Given the description of an element on the screen output the (x, y) to click on. 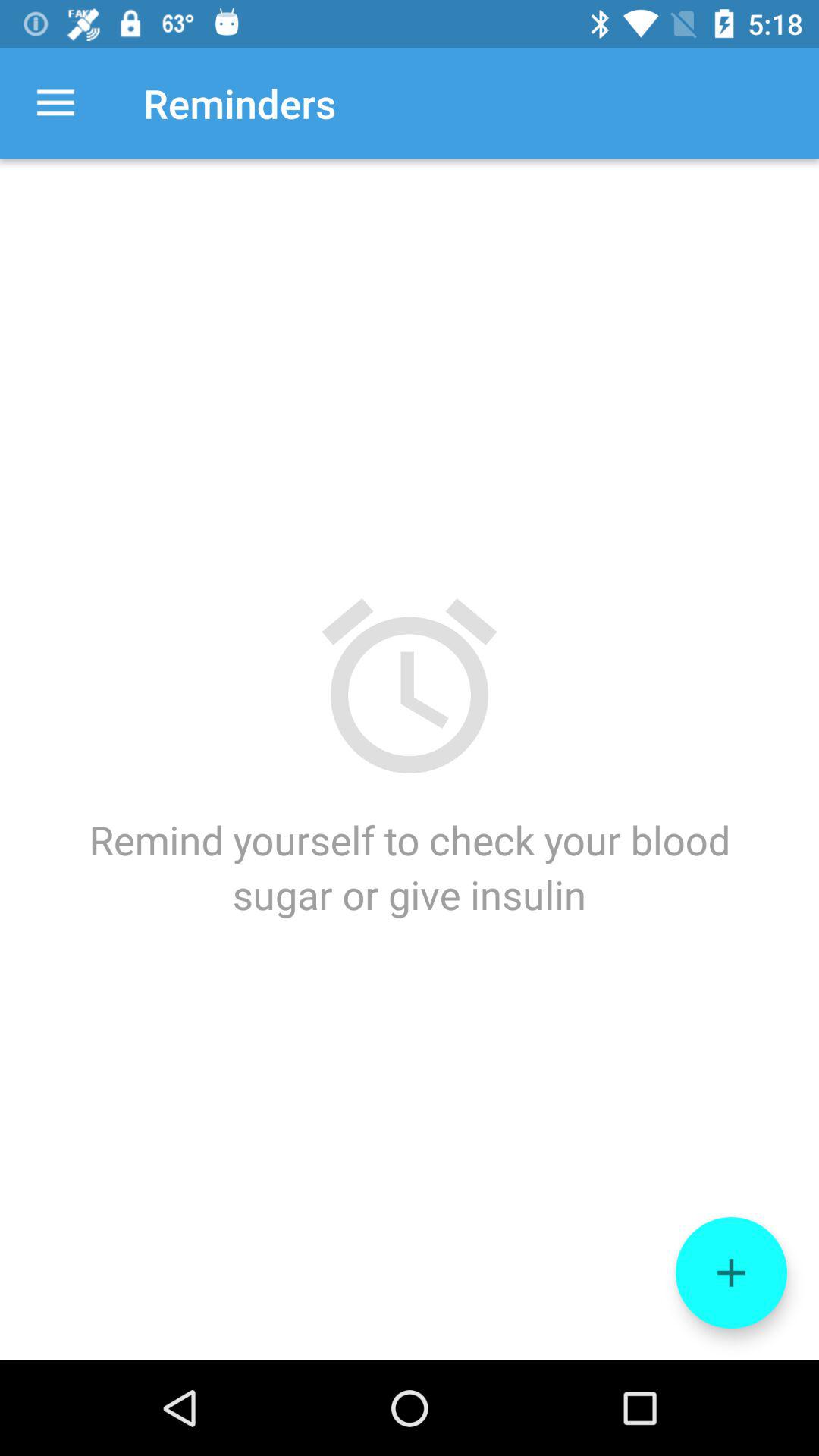
select icon below remind yourself to icon (731, 1272)
